Given the description of an element on the screen output the (x, y) to click on. 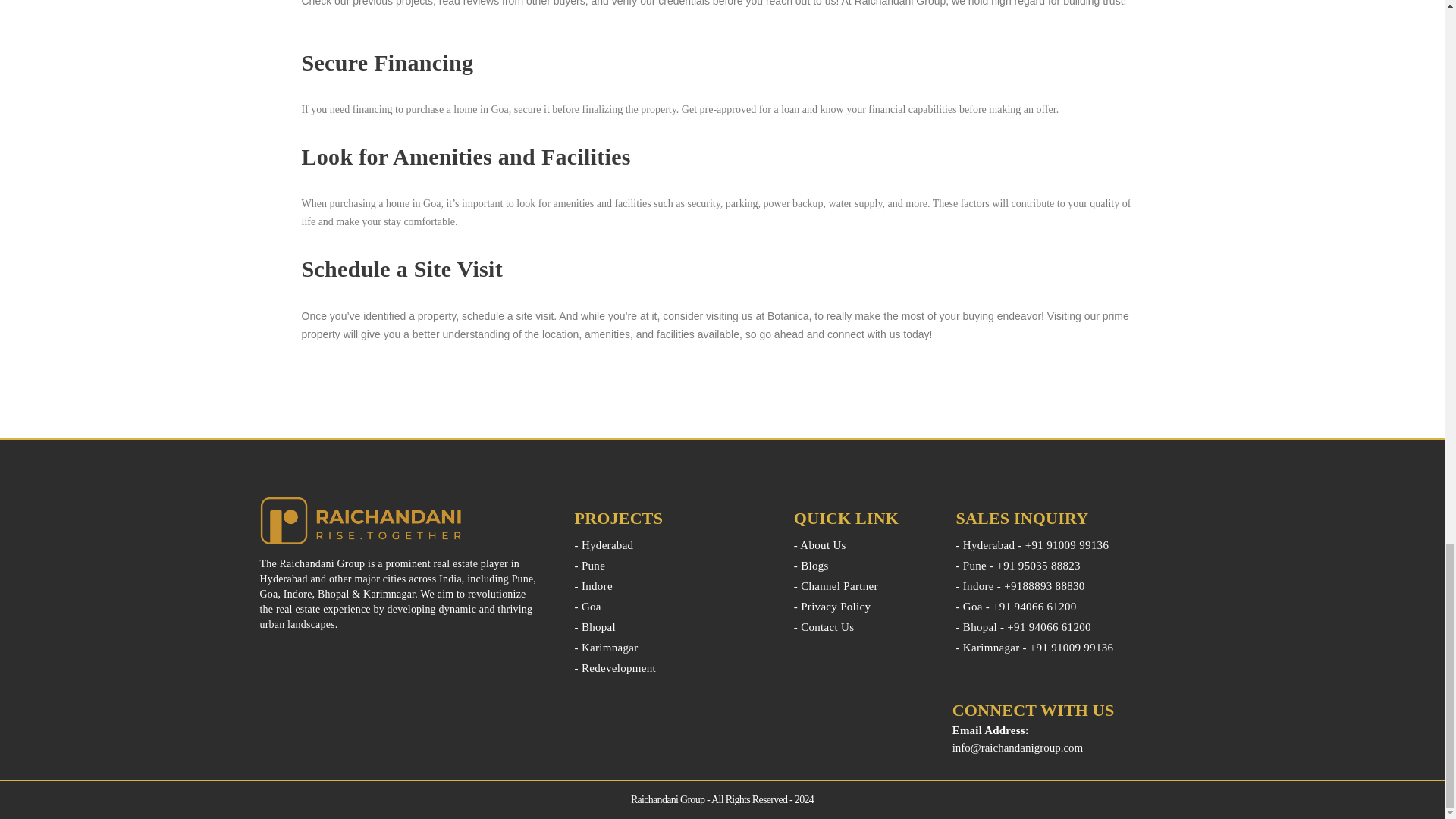
- Goa (673, 606)
- Channel Partner (863, 586)
- Redevelopment (673, 668)
- Pune (673, 565)
- About Us (863, 545)
- Blogs (863, 565)
- Privacy Policy (863, 606)
- Indore (673, 586)
- Hyderabad (673, 545)
- Karimnagar (673, 647)
- Bhopal (673, 627)
- Contact Us (863, 627)
